Given the description of an element on the screen output the (x, y) to click on. 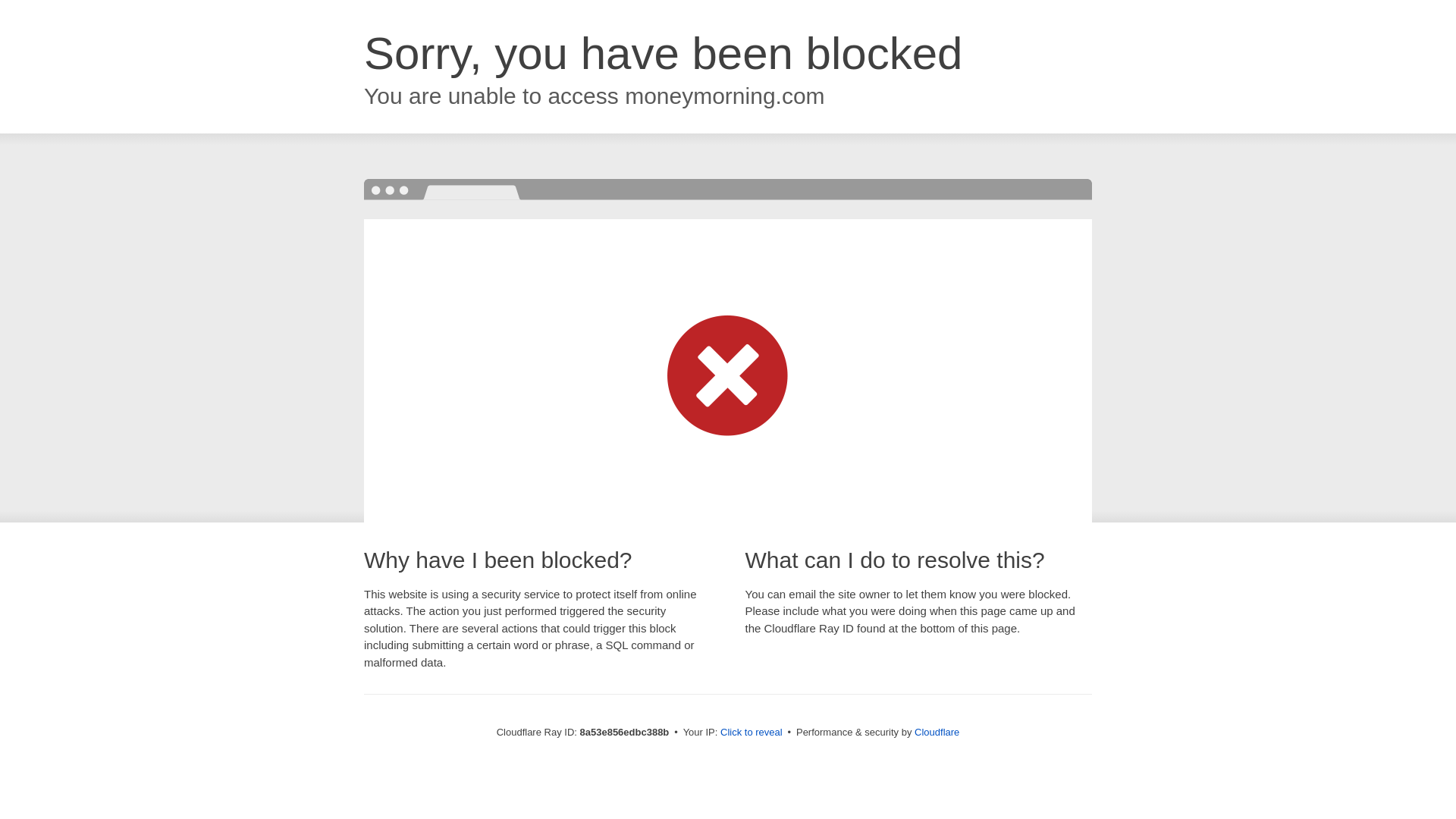
Click to reveal (751, 732)
Cloudflare (936, 731)
